Given the description of an element on the screen output the (x, y) to click on. 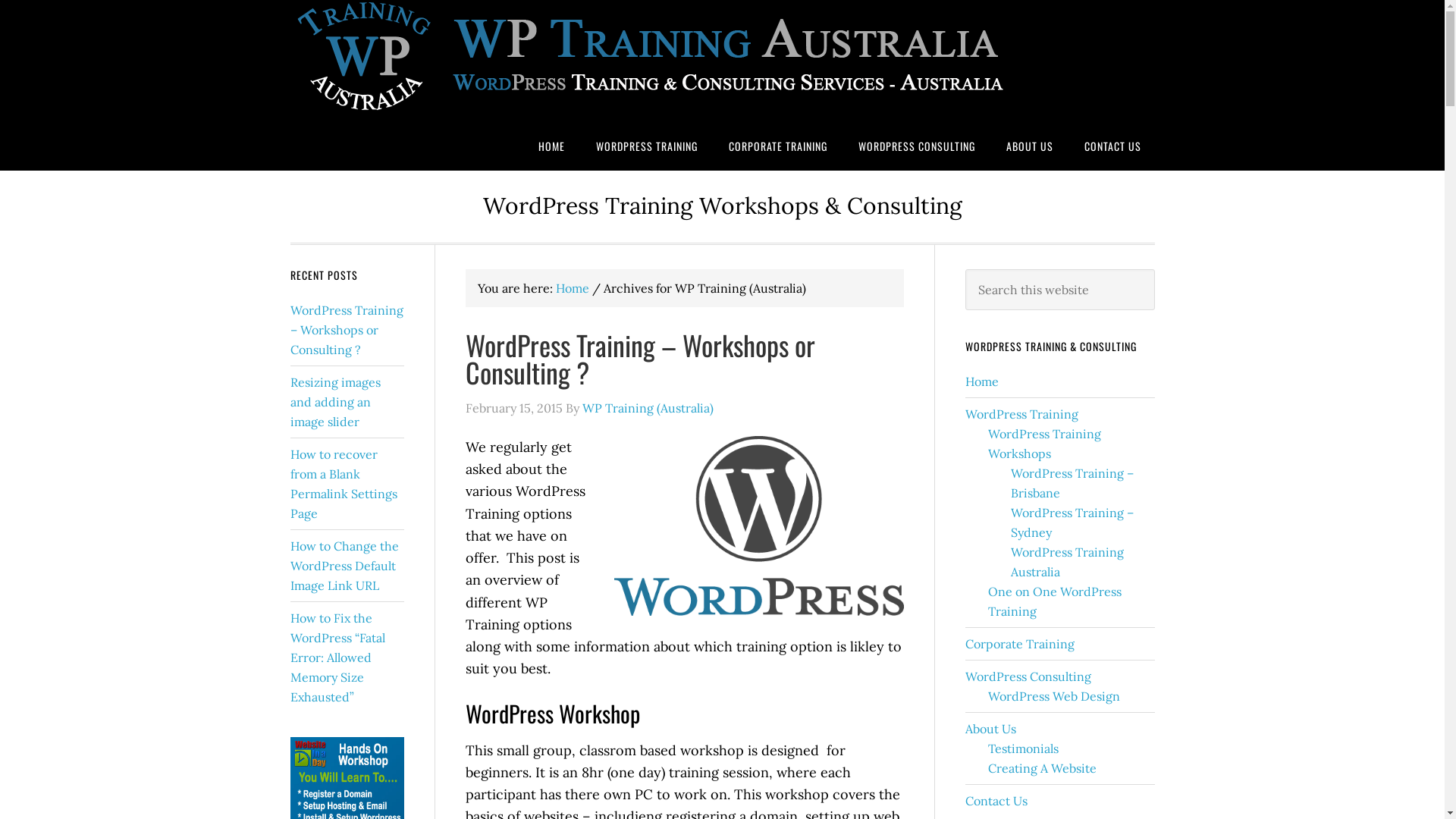
WORDPRESS TRAINING & CONSULTING SERVICES (AUSTRALIA) Element type: text (653, 60)
How to recover from a Blank Permalink Settings Page Element type: text (342, 483)
WordPress Training Australia Element type: text (1066, 561)
WORDPRESS TRAINING Element type: text (646, 145)
WORDPRESS CONSULTING Element type: text (916, 145)
WordPress Consulting Element type: text (1027, 676)
HOME Element type: text (551, 145)
About Us Element type: text (989, 728)
Home Element type: text (980, 381)
WordPress Training Element type: text (1020, 413)
How to Change the WordPress Default Image Link URL Element type: text (343, 565)
CORPORATE TRAINING Element type: text (777, 145)
Home Element type: text (571, 287)
WordPress Training Workshops Element type: text (1043, 443)
Creating A Website Element type: text (1041, 767)
ABOUT US Element type: text (1028, 145)
Search Element type: text (1154, 268)
Contact Us Element type: text (995, 800)
Resizing images and adding an image slider Element type: text (334, 401)
Testimonials Element type: text (1022, 748)
Corporate Training Element type: text (1018, 643)
One on One WordPress Training Element type: text (1053, 600)
WordPress Web Design Element type: text (1053, 695)
CONTACT US Element type: text (1112, 145)
WP Training (Australia) Element type: text (647, 407)
